Given the description of an element on the screen output the (x, y) to click on. 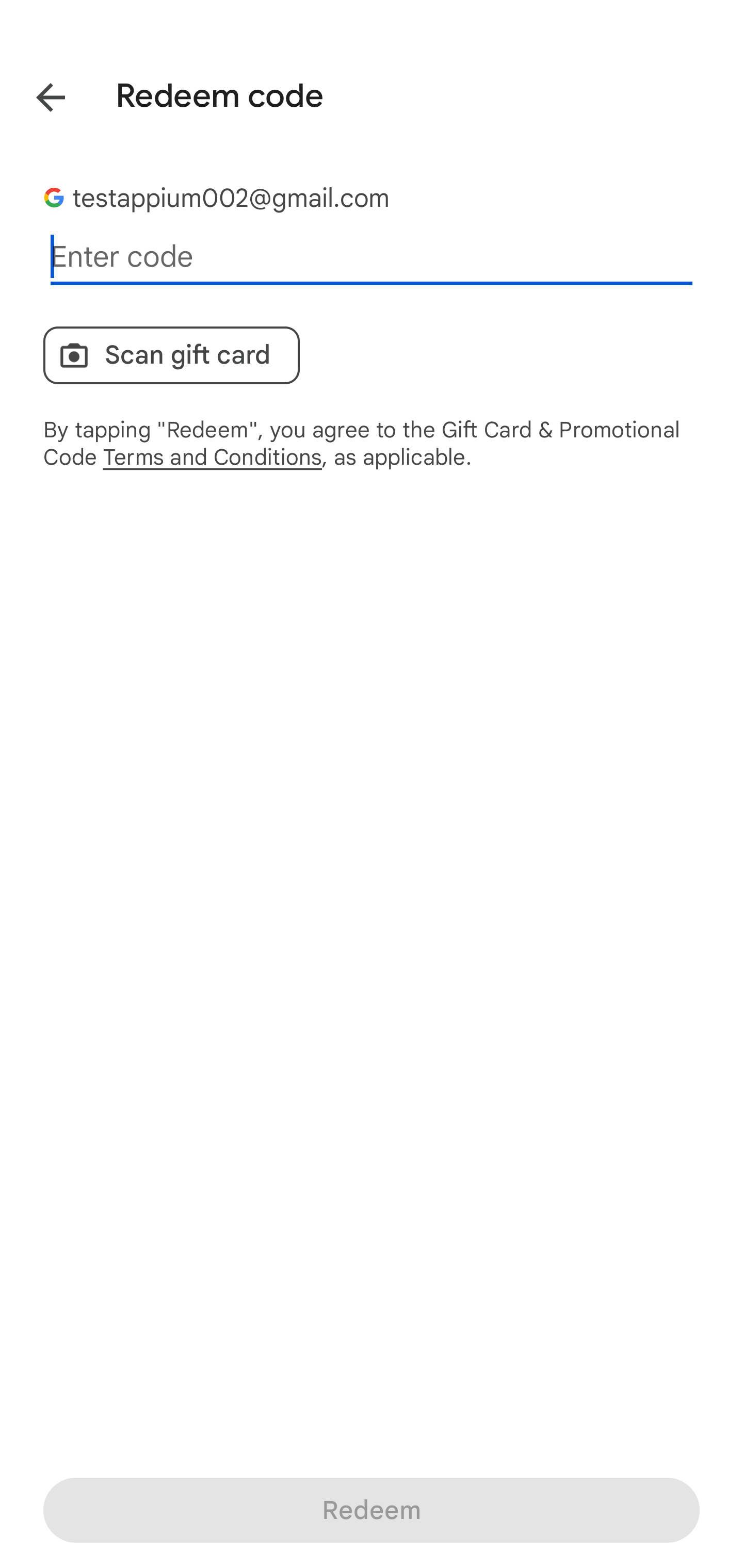
Back (36, 94)
Enter code (371, 256)
Scan gift card (171, 355)
